Given the description of an element on the screen output the (x, y) to click on. 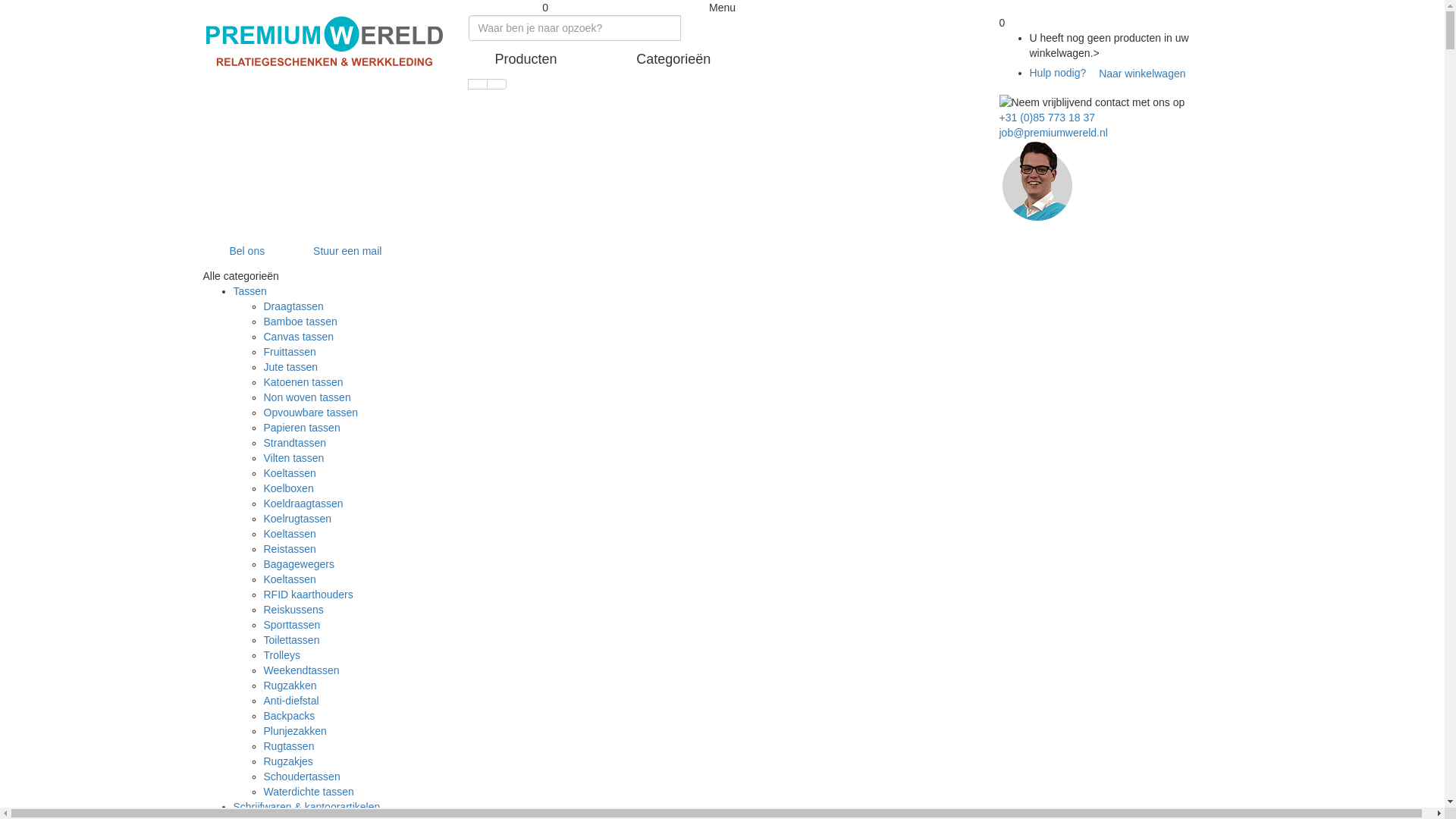
Zoek in ons assortiment Element type: hover (496, 83)
Sporttassen Element type: text (291, 624)
Koeldraagtassen Element type: text (303, 503)
Reistassen Element type: text (289, 548)
+31 (0)85 773 18 37 Element type: text (1047, 117)
Koeltassen Element type: text (289, 533)
Plunjezakken Element type: text (294, 730)
Canvas tassen Element type: text (298, 336)
Rugzakken Element type: text (289, 685)
divider Element type: hover (476, 83)
Toilettassen Element type: text (291, 639)
Draagtassen Element type: text (293, 306)
Rugtassen Element type: text (288, 746)
Bagagewegers Element type: text (298, 564)
Anti-diefstal Element type: text (291, 700)
Tassen Element type: text (249, 291)
Koelrugtassen Element type: text (297, 518)
job@premiumwereld.nl Element type: text (1053, 132)
Reiskussens Element type: text (293, 609)
Koelboxen Element type: text (288, 488)
Koeltassen Element type: text (289, 473)
Rugzakjes Element type: text (288, 761)
Papieren tassen Element type: text (301, 427)
Opvouwbare tassen Element type: text (310, 412)
Jute tassen Element type: text (290, 366)
Bel ons Element type: text (261, 250)
Weekendtassen Element type: text (301, 670)
Waterdichte tassen Element type: text (308, 791)
Backpacks Element type: text (289, 715)
Naar winkelwagen Element type: text (1141, 72)
Hulp nodig? Element type: text (1057, 72)
Schrijfwaren & kantoorartikelen Element type: text (306, 806)
Schoudertassen Element type: text (301, 776)
Stuur een mail Element type: text (343, 250)
Strandtassen Element type: text (294, 442)
Vilten tassen Element type: text (293, 457)
Koeltassen Element type: text (289, 579)
Fruittassen Element type: text (289, 351)
Trolleys Element type: text (282, 655)
Katoenen tassen Element type: text (303, 382)
Bamboe tassen Element type: text (300, 321)
Non woven tassen Element type: text (307, 397)
RFID kaarthouders Element type: text (308, 594)
